Given the description of an element on the screen output the (x, y) to click on. 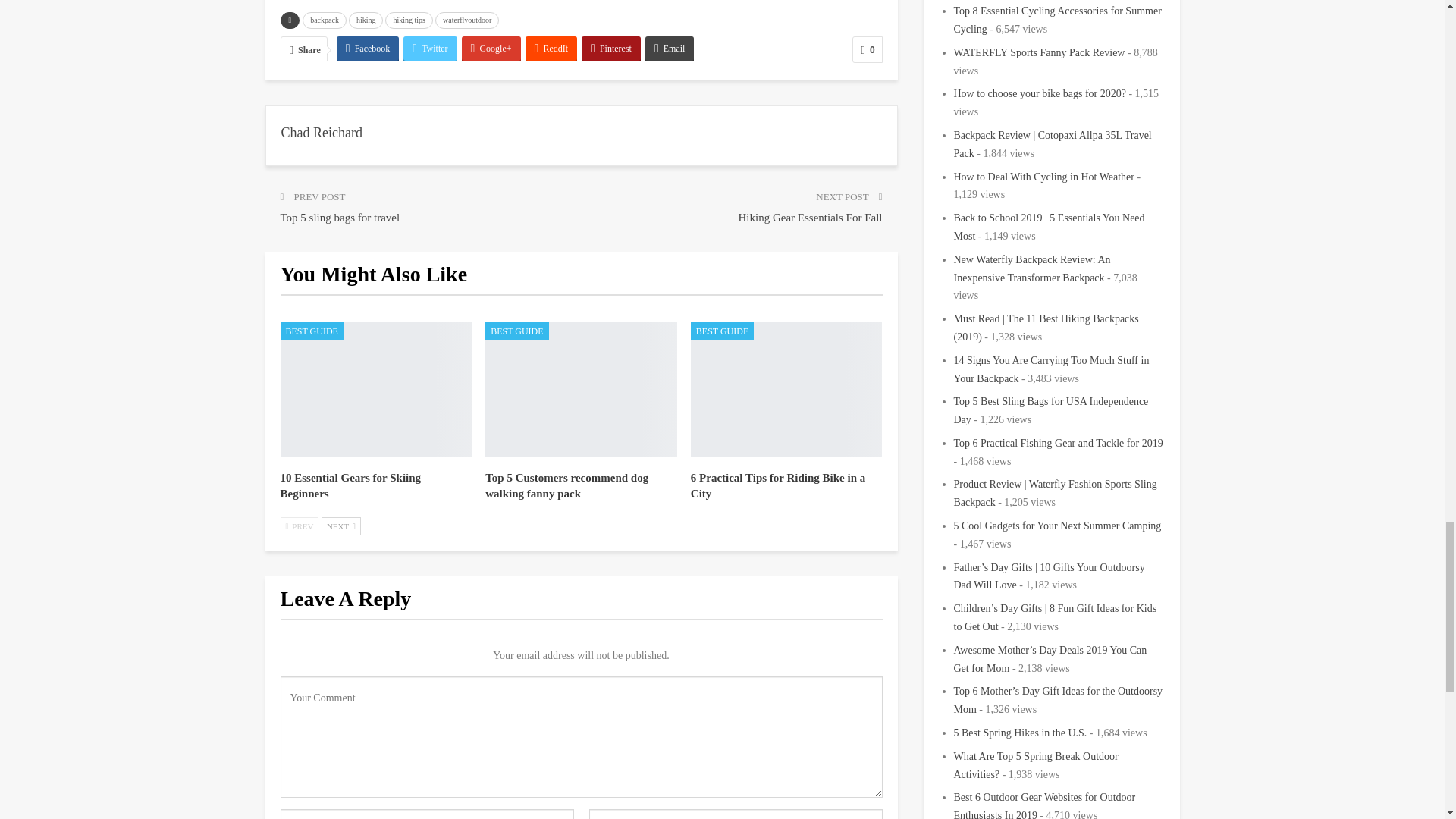
10 Essential Gears for Skiing Beginners (376, 389)
6 Practical Tips for Riding Bike in a City (777, 485)
Top 5 Customers recommend dog walking fanny pack (565, 485)
Previous (299, 525)
Top 5 Customers recommend dog walking fanny pack (580, 389)
10 Essential Gears for Skiing Beginners (351, 485)
6 Practical Tips for Riding Bike in a City (786, 389)
